Given the description of an element on the screen output the (x, y) to click on. 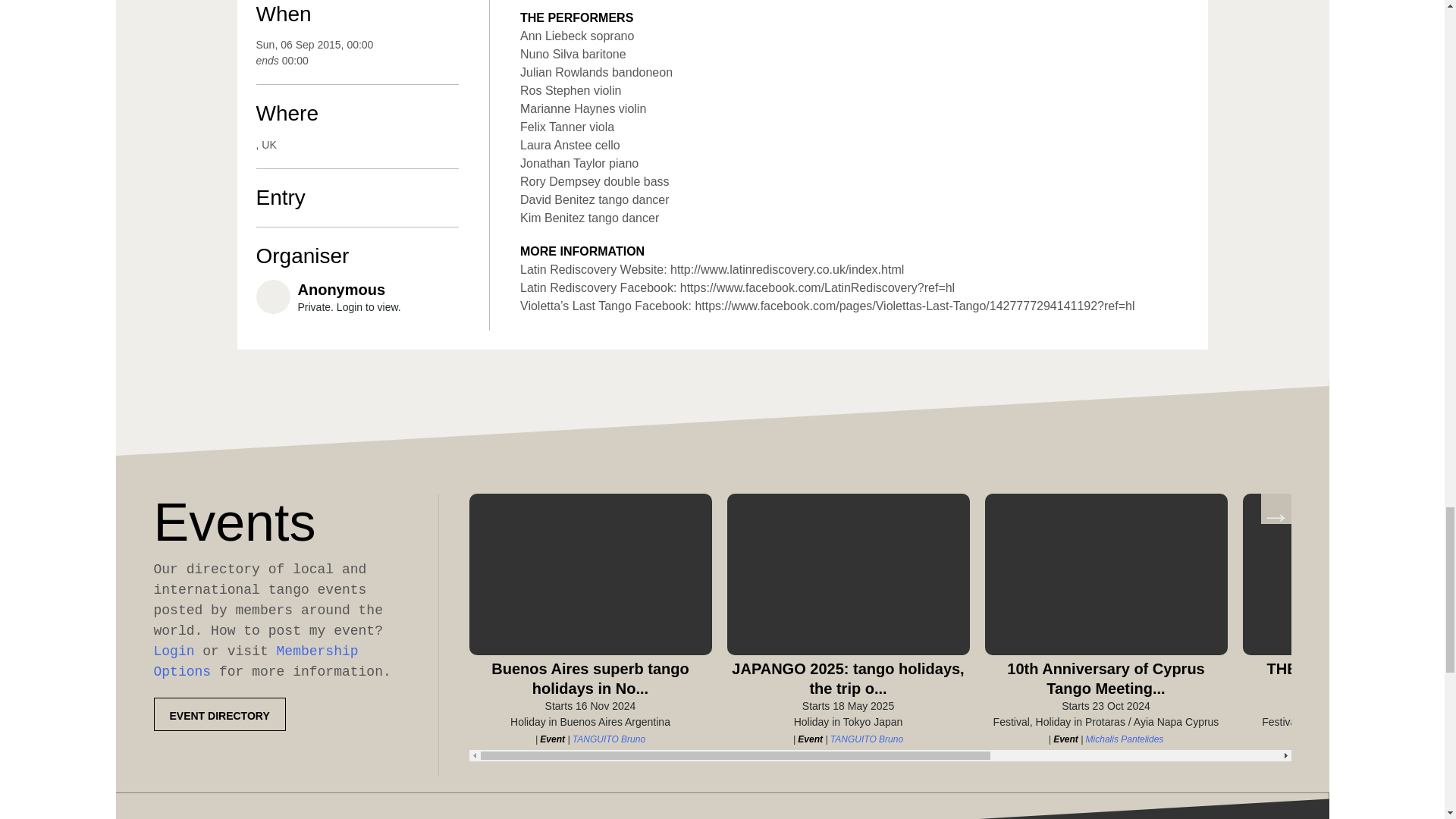
Michalis Pantelides (1124, 738)
Membership Options (255, 661)
EVENT DIRECTORY (218, 714)
David Reus (1382, 738)
TANGUITO Bruno (608, 738)
TANGUITO Bruno (865, 738)
Login (172, 651)
